Given the description of an element on the screen output the (x, y) to click on. 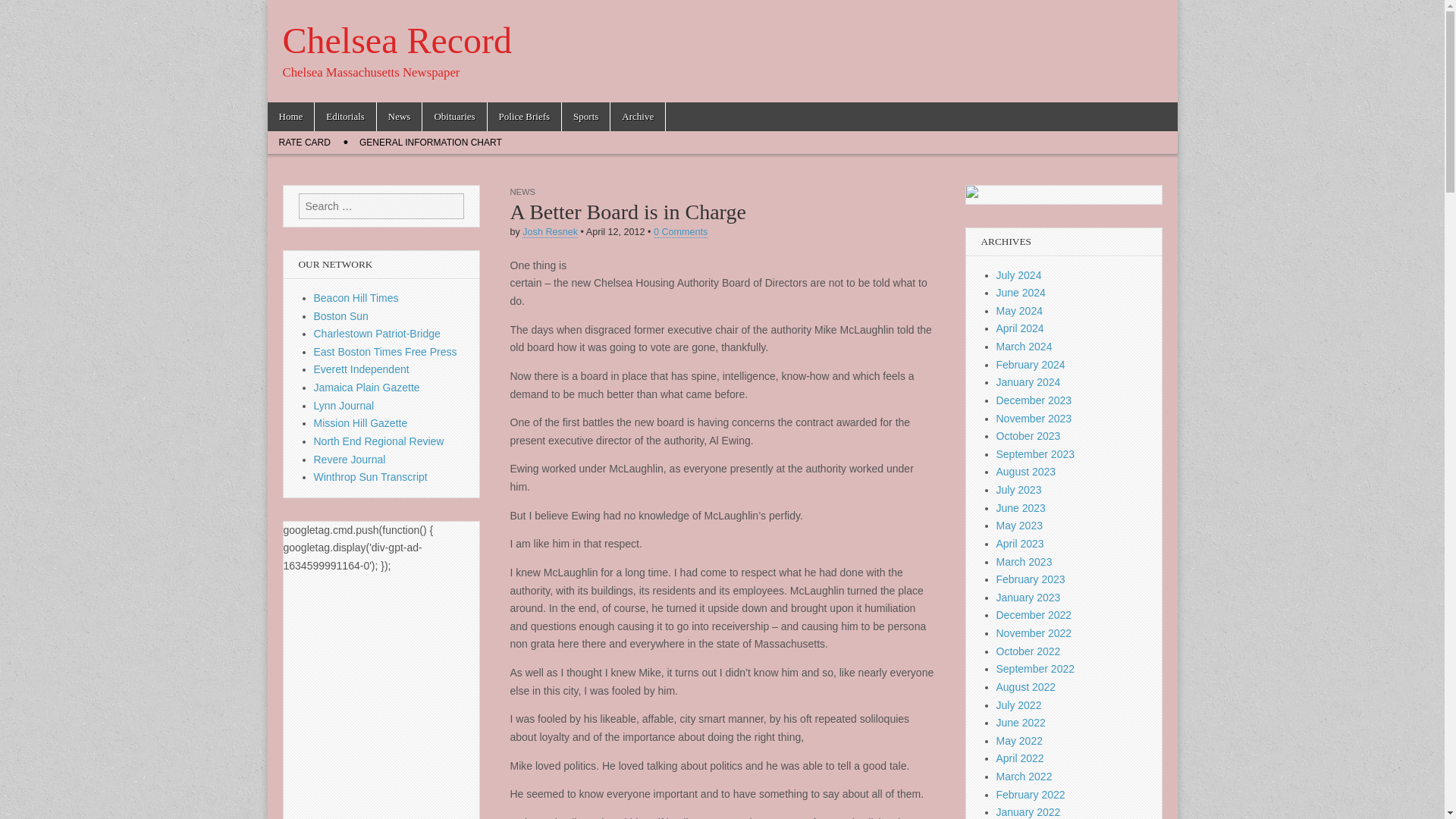
Chelsea Record (397, 40)
March 2024 (1023, 346)
Archive (637, 116)
Lynn Journal (344, 405)
April 2024 (1019, 328)
News (399, 116)
May 2024 (1018, 310)
Mission Hill Gazette (360, 422)
Editorials (344, 116)
NEWS (522, 191)
Boston Sun (341, 316)
Beacon Hill Times (356, 297)
June 2024 (1020, 292)
Everett Independent (361, 369)
RATE CARD (303, 142)
